Given the description of an element on the screen output the (x, y) to click on. 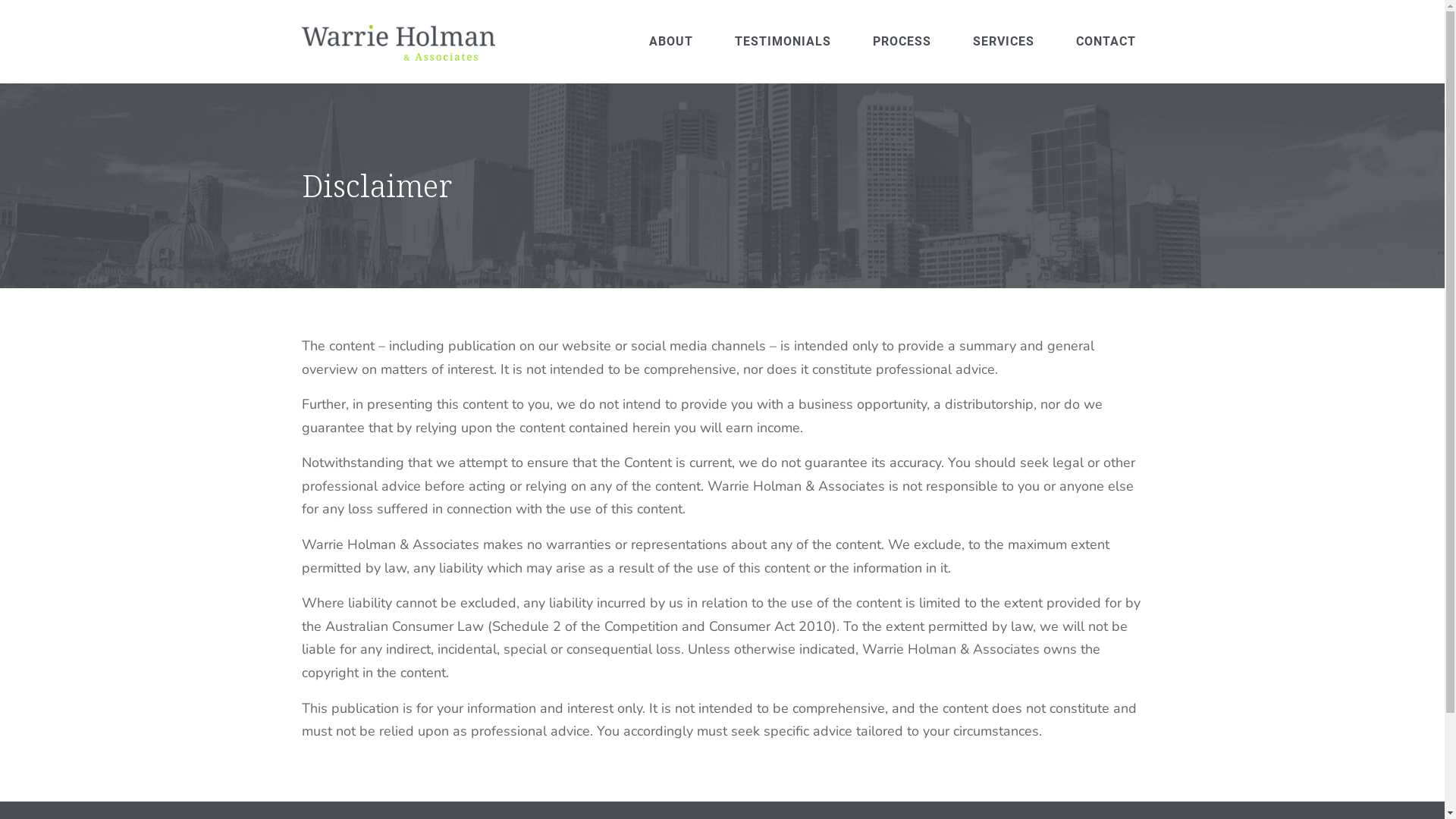
PROCESS Element type: text (901, 41)
SERVICES Element type: text (1003, 41)
ABOUT Element type: text (670, 41)
CONTACT Element type: text (1105, 41)
TESTIMONIALS Element type: text (782, 41)
